Given the description of an element on the screen output the (x, y) to click on. 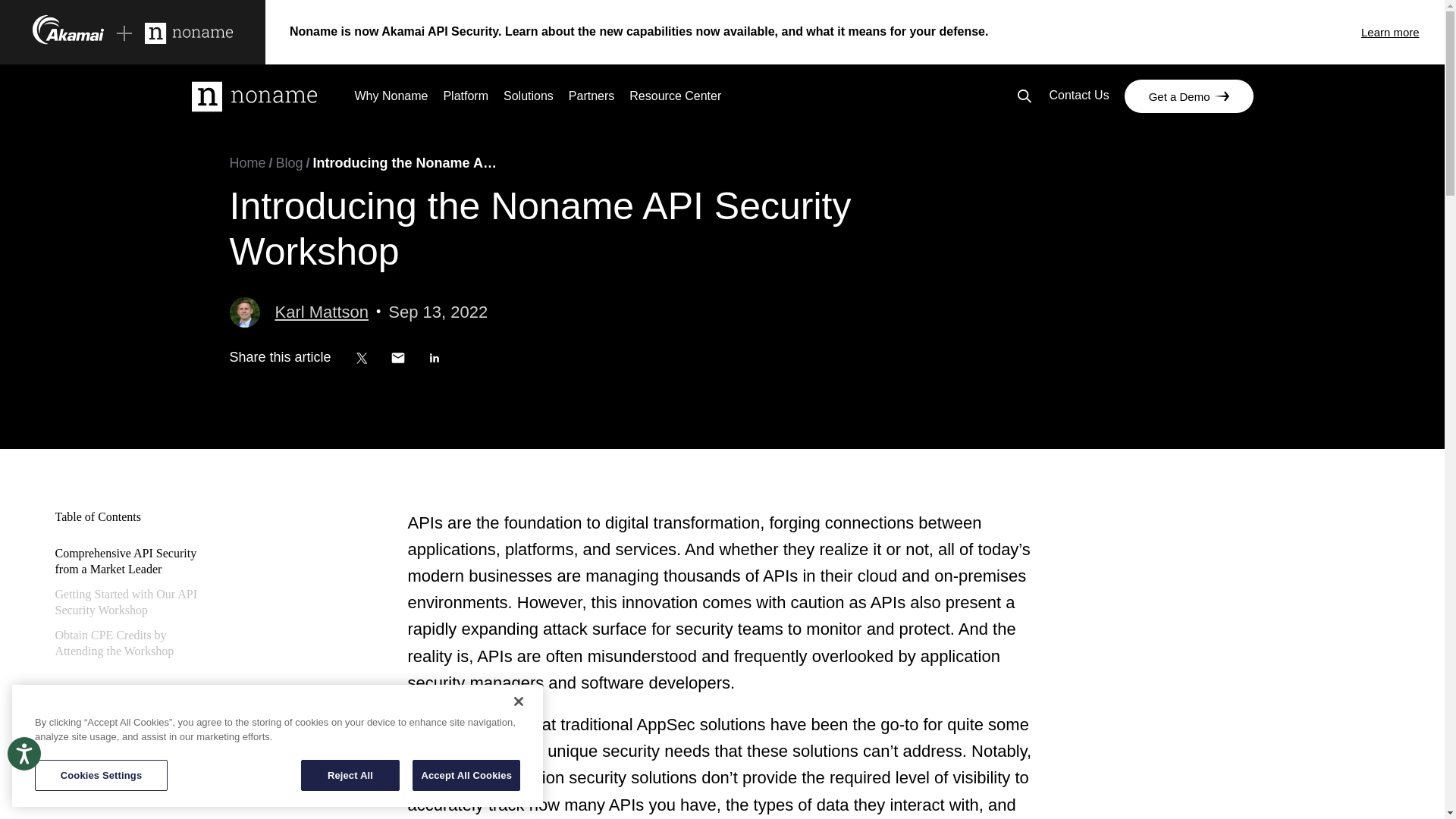
Accessibility (37, 767)
Learn more (1402, 31)
Get a Demo (1188, 96)
Partners (591, 98)
Resource Center (674, 98)
Why Noname (391, 98)
Contact Us (1078, 97)
Solutions (528, 98)
Platform (464, 98)
